Given the description of an element on the screen output the (x, y) to click on. 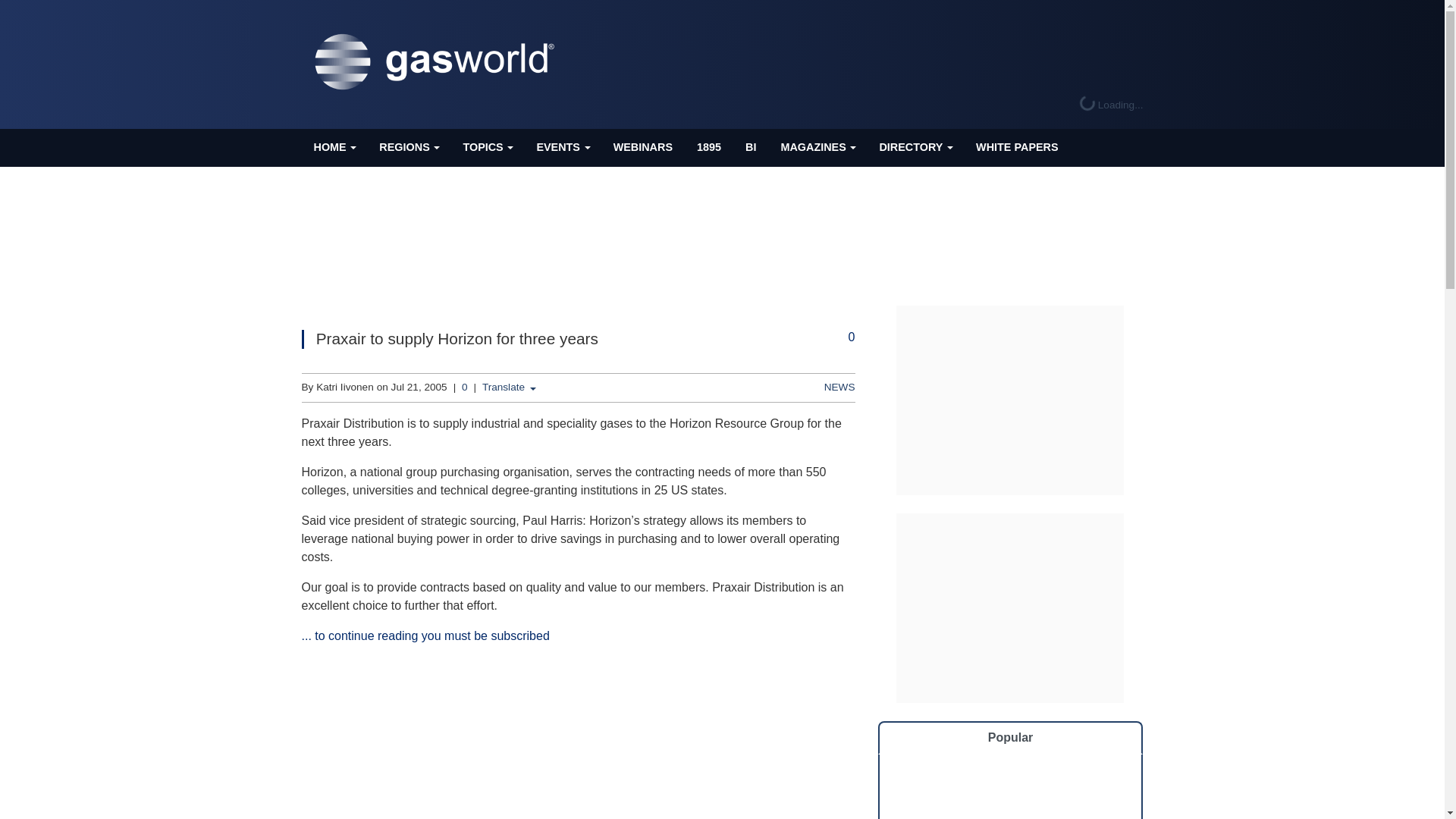
Home (334, 146)
REGIONS (407, 146)
Regions (407, 146)
HOME (334, 146)
Topics (486, 146)
TOPICS (486, 146)
gasworld (438, 62)
